Given the description of an element on the screen output the (x, y) to click on. 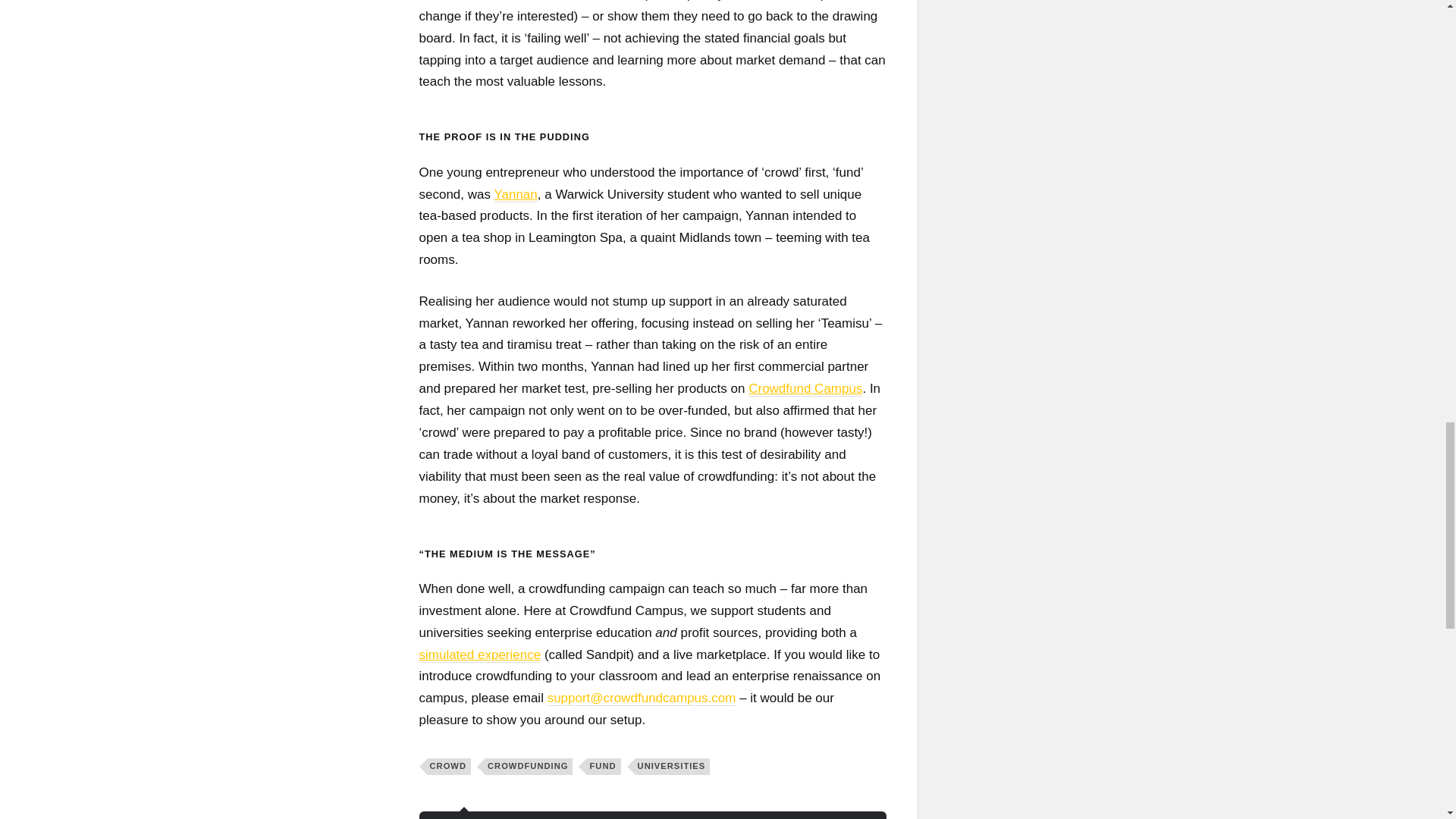
UNIVERSITIES (672, 766)
Yannan (515, 194)
CROWDFUNDING (528, 766)
CROWD (449, 766)
simulated experience (479, 654)
Crowdfund Campus (804, 388)
FUND (603, 766)
